Given the description of an element on the screen output the (x, y) to click on. 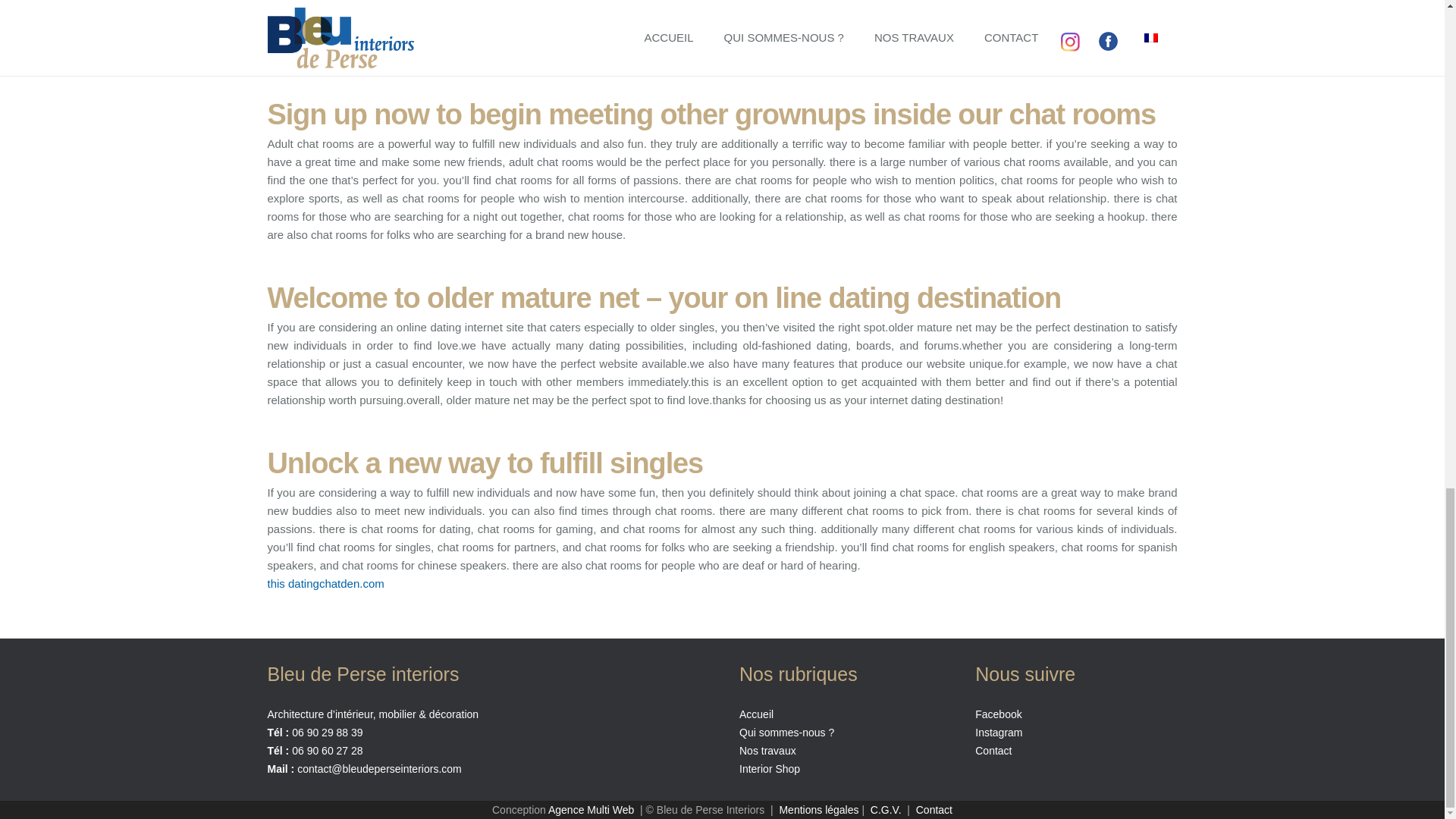
this datingchatden.com (325, 583)
Accueil (756, 714)
Contact (993, 750)
Nos travaux (767, 750)
Qui sommes-nous ? (786, 732)
Facebook (998, 714)
Agence Multi Web (590, 809)
Contact (933, 809)
C.G.V. (885, 809)
Instagram (998, 732)
